Given the description of an element on the screen output the (x, y) to click on. 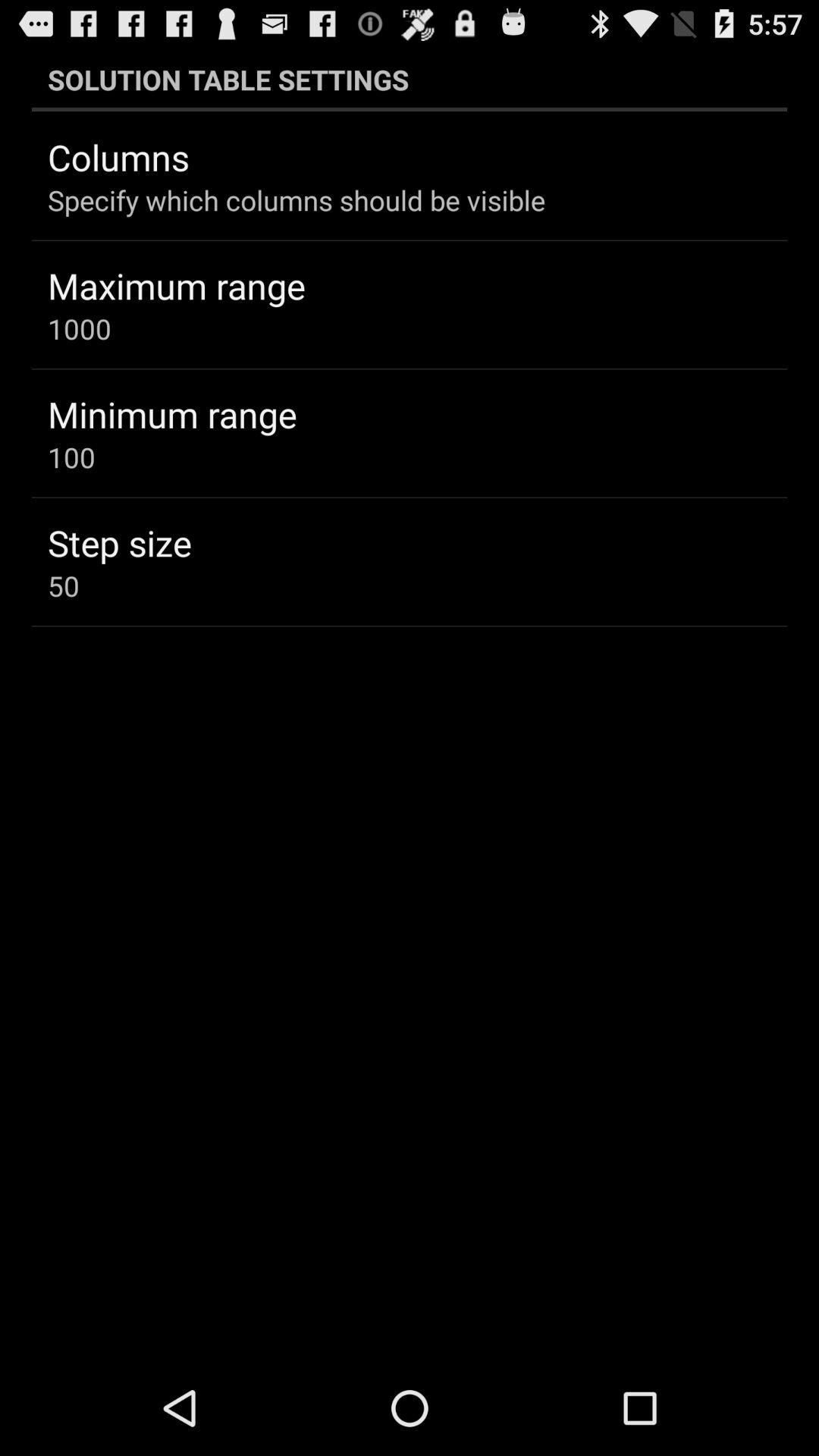
jump to the solution table settings (409, 79)
